Given the description of an element on the screen output the (x, y) to click on. 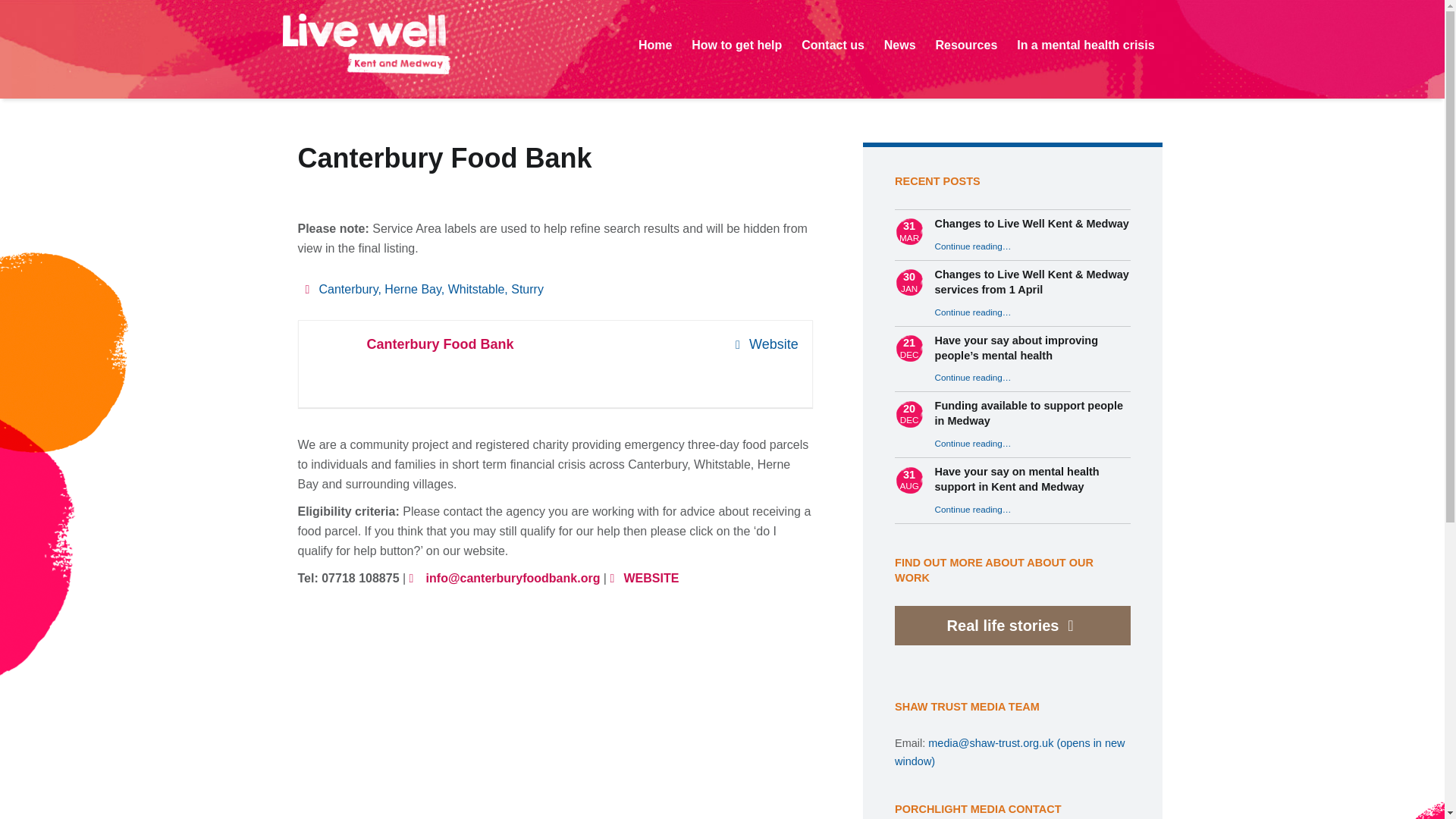
Have your say on mental health support in Kent and Medway (1016, 479)
Real life stories (1003, 625)
Home (654, 44)
How to get help (736, 44)
In a mental health crisis (1085, 44)
News (899, 44)
WEBSITE (644, 578)
Resources (967, 44)
Canterbury, Herne Bay, Whitstable, Sturry (422, 288)
